Given the description of an element on the screen output the (x, y) to click on. 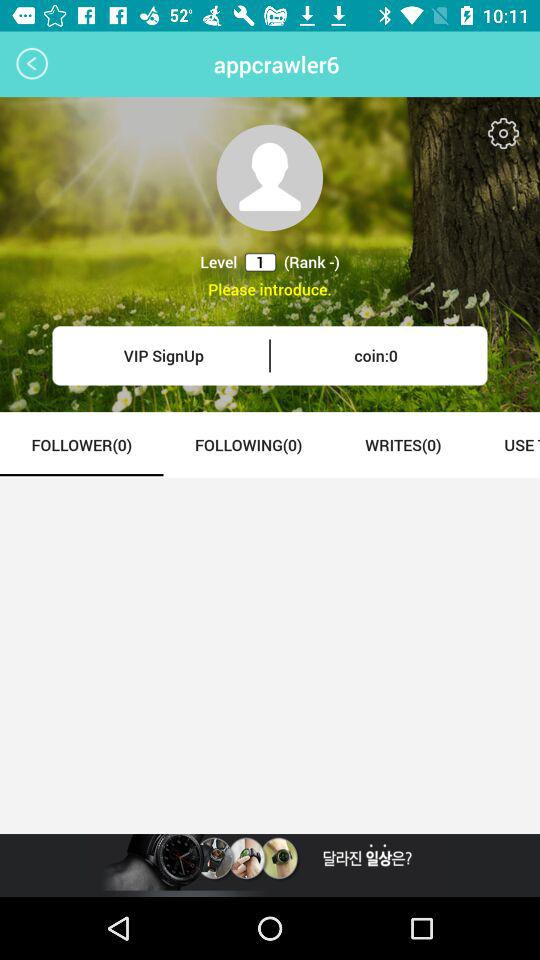
open the icon at the top right corner (503, 133)
